Given the description of an element on the screen output the (x, y) to click on. 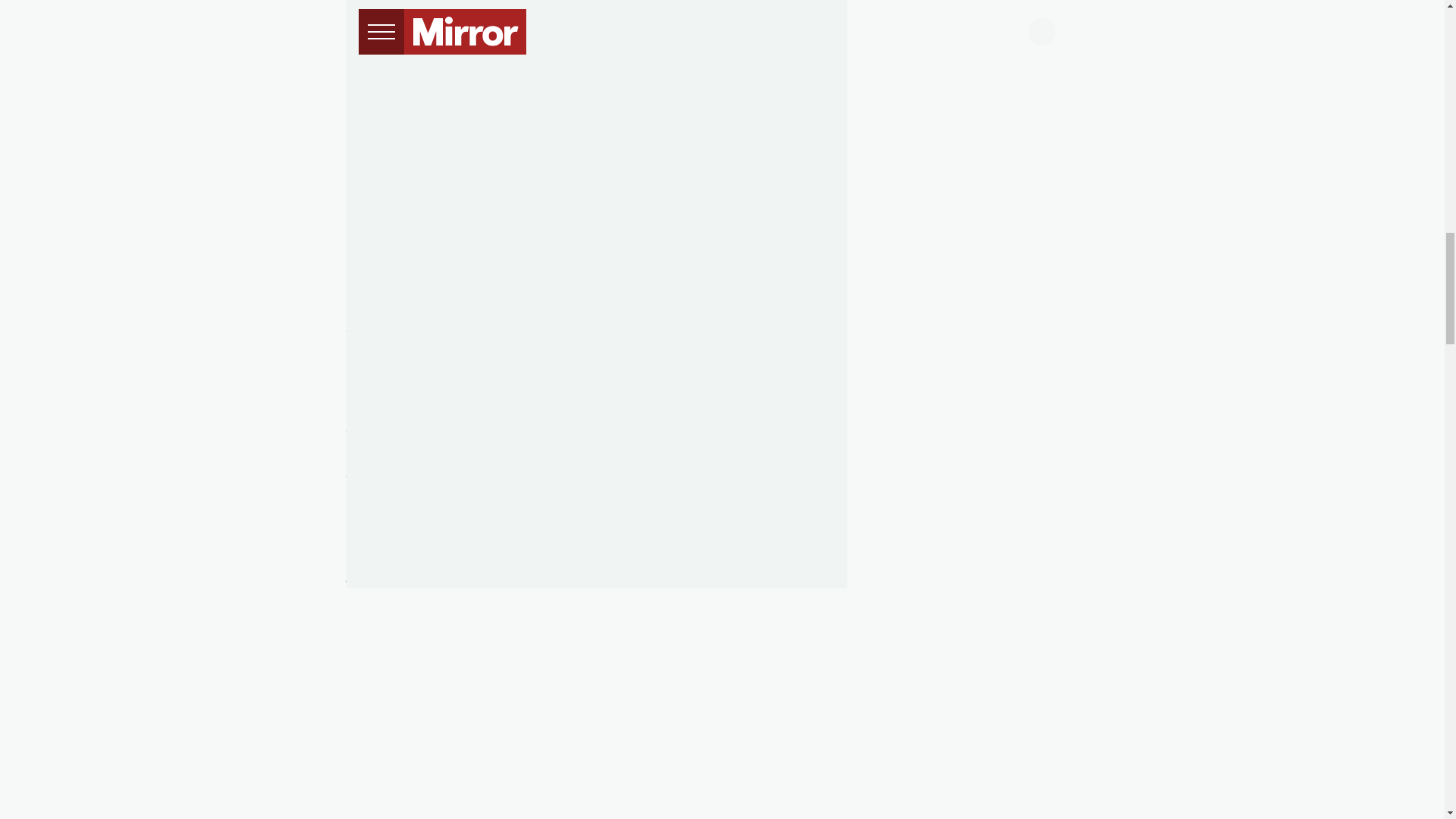
Twitter (695, 560)
Snapchat (570, 560)
TikTok (515, 560)
The Guardian (574, 460)
Ronan Keating (390, 533)
here (524, 233)
Instagram (636, 560)
